Given the description of an element on the screen output the (x, y) to click on. 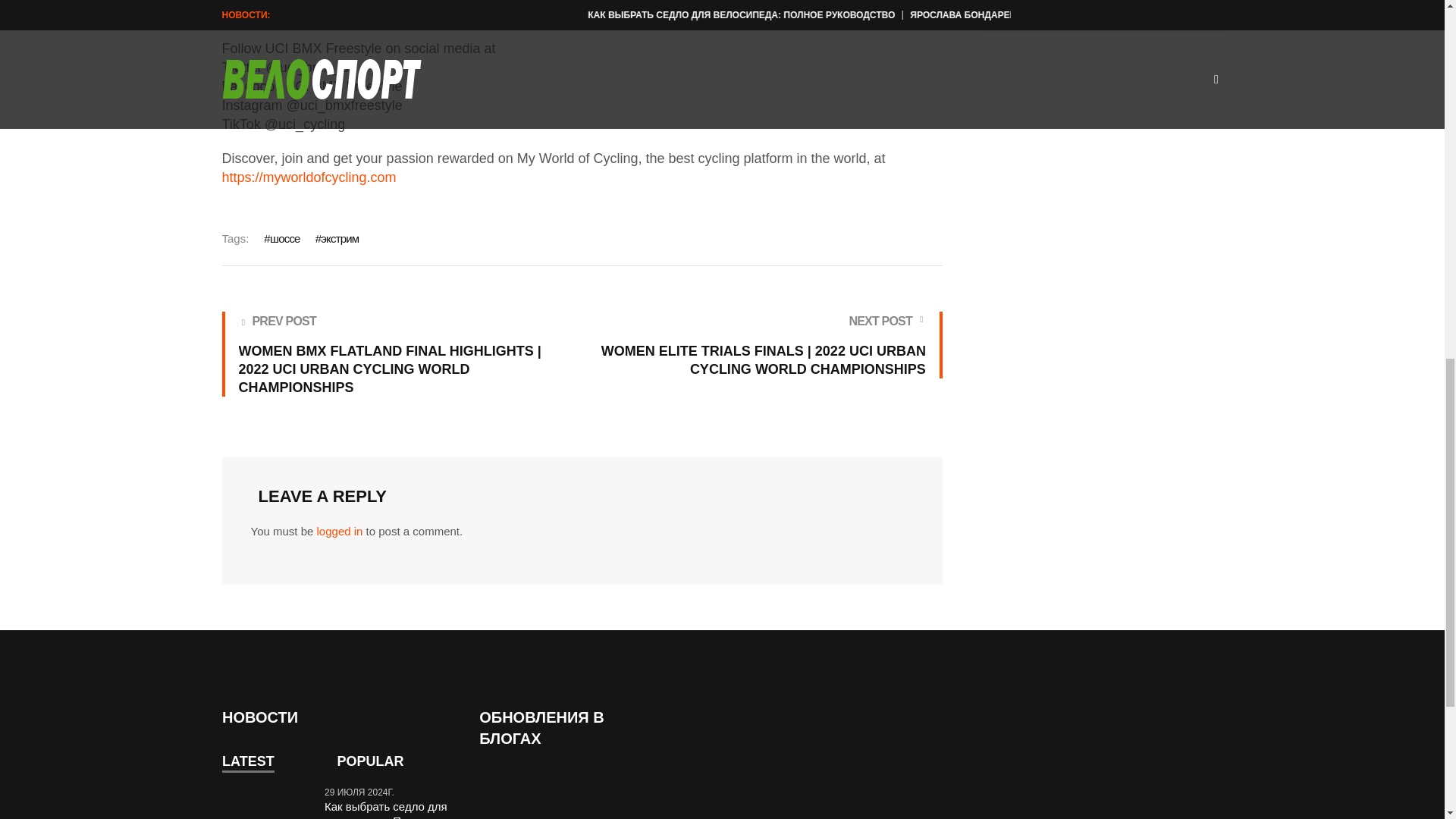
logged in (339, 530)
